Given the description of an element on the screen output the (x, y) to click on. 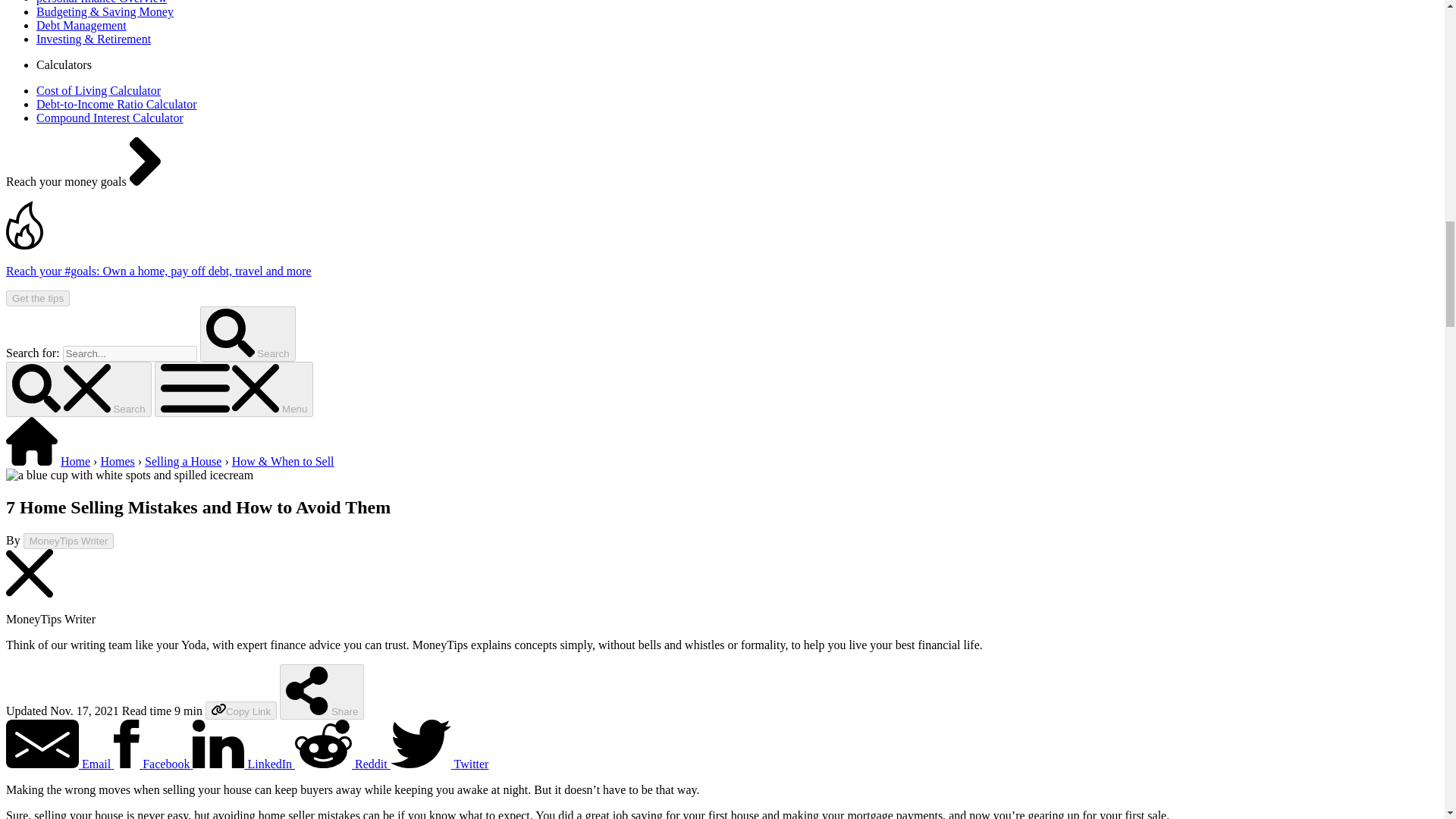
Share on Twitter (439, 763)
Toggle Share Menu (321, 691)
Share on Reddit (342, 763)
Toggle Site Menu (234, 388)
Search MoneyTips (129, 353)
Share on LinkedIn (243, 763)
Toggle Site Search (78, 388)
Share on Facebook (152, 763)
Share via Email (59, 763)
Submit Search (247, 333)
